Given the description of an element on the screen output the (x, y) to click on. 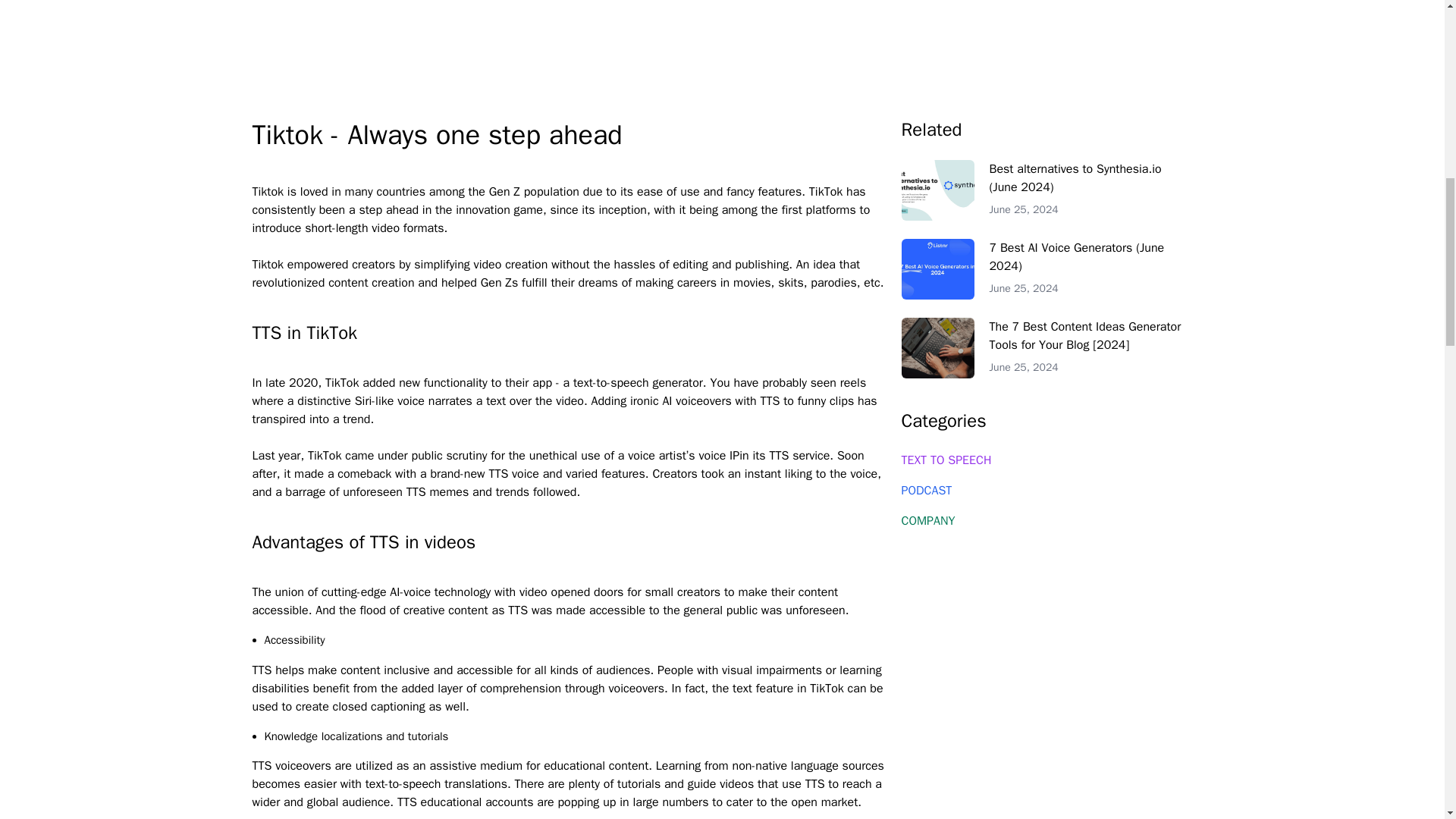
TEXT TO SPEECH (1046, 460)
to create closed (326, 706)
COMPANY (1046, 521)
PODCAST (1046, 490)
